Given the description of an element on the screen output the (x, y) to click on. 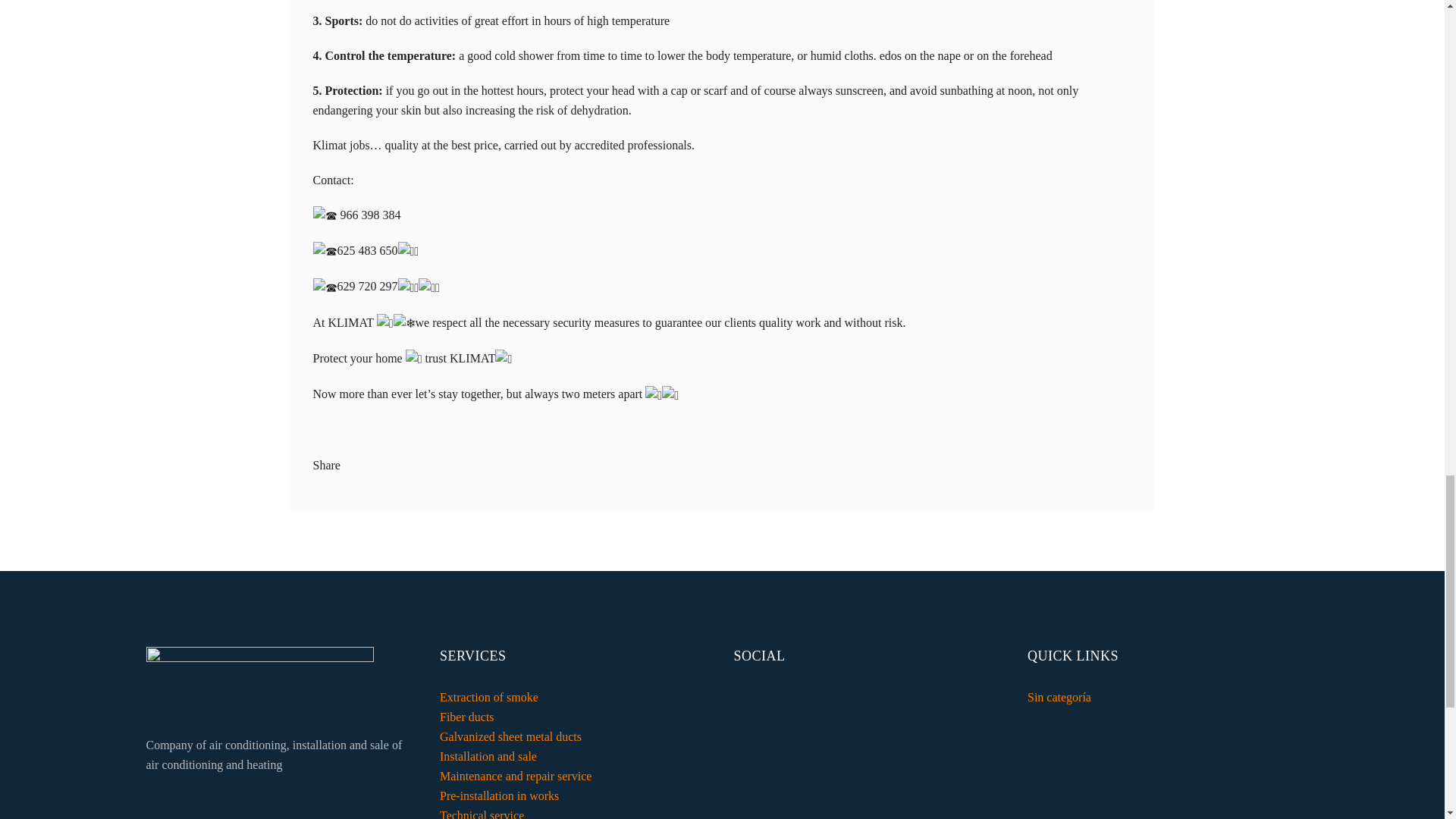
Fiber ducts (467, 716)
Galvanized sheet metal ducts (509, 736)
Maintenance and repair service (515, 775)
Installation and sale (488, 756)
Extraction of smoke (488, 697)
